Given the description of an element on the screen output the (x, y) to click on. 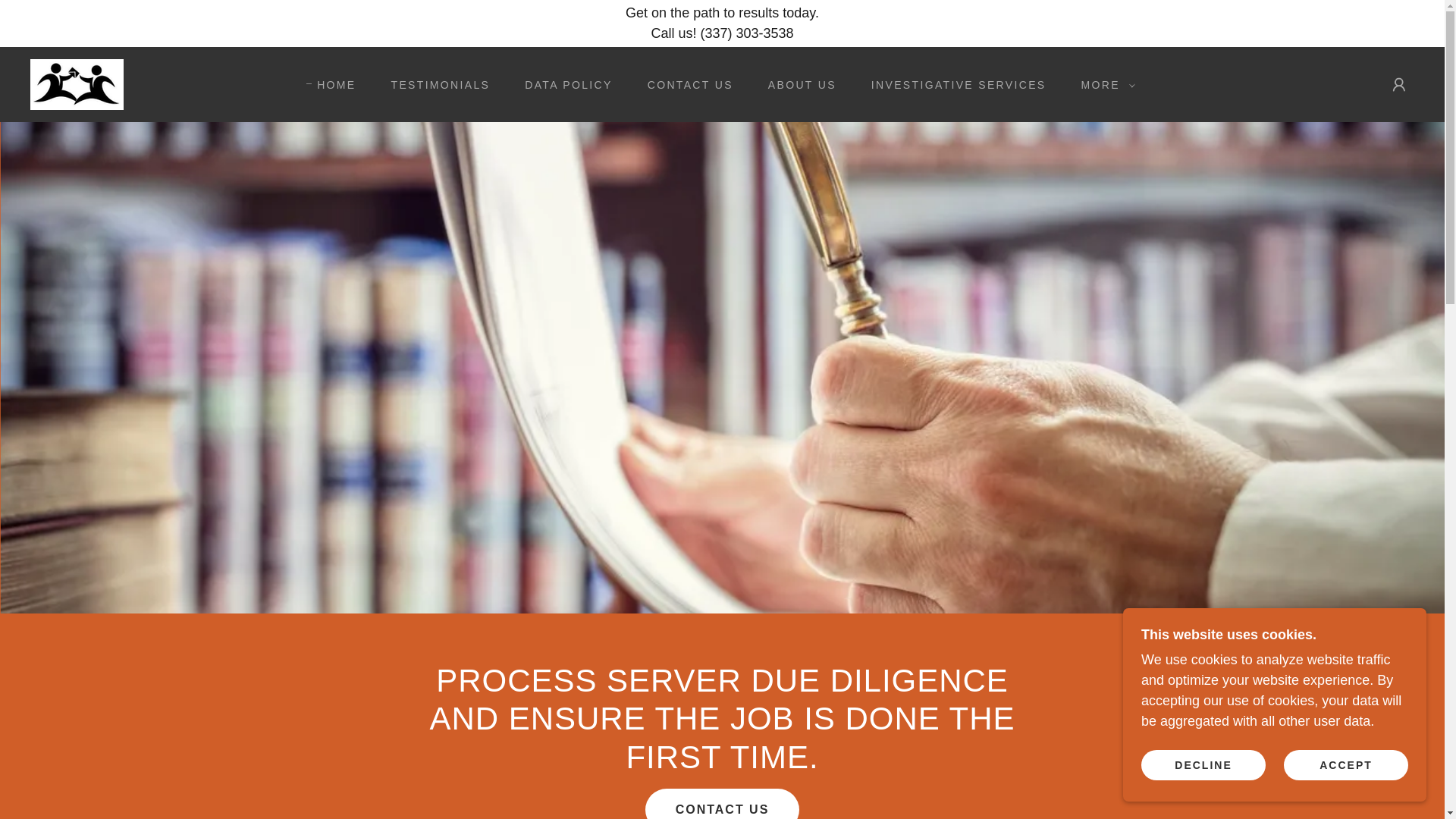
DATA POLICY (562, 84)
TESTIMONIALS (435, 84)
CONTACT US (684, 84)
CONTACT US (722, 803)
KJC Process Service (76, 83)
INVESTIGATIVE SERVICES (953, 84)
ABOUT US (796, 84)
HOME (330, 85)
MORE (1103, 85)
